Given the description of an element on the screen output the (x, y) to click on. 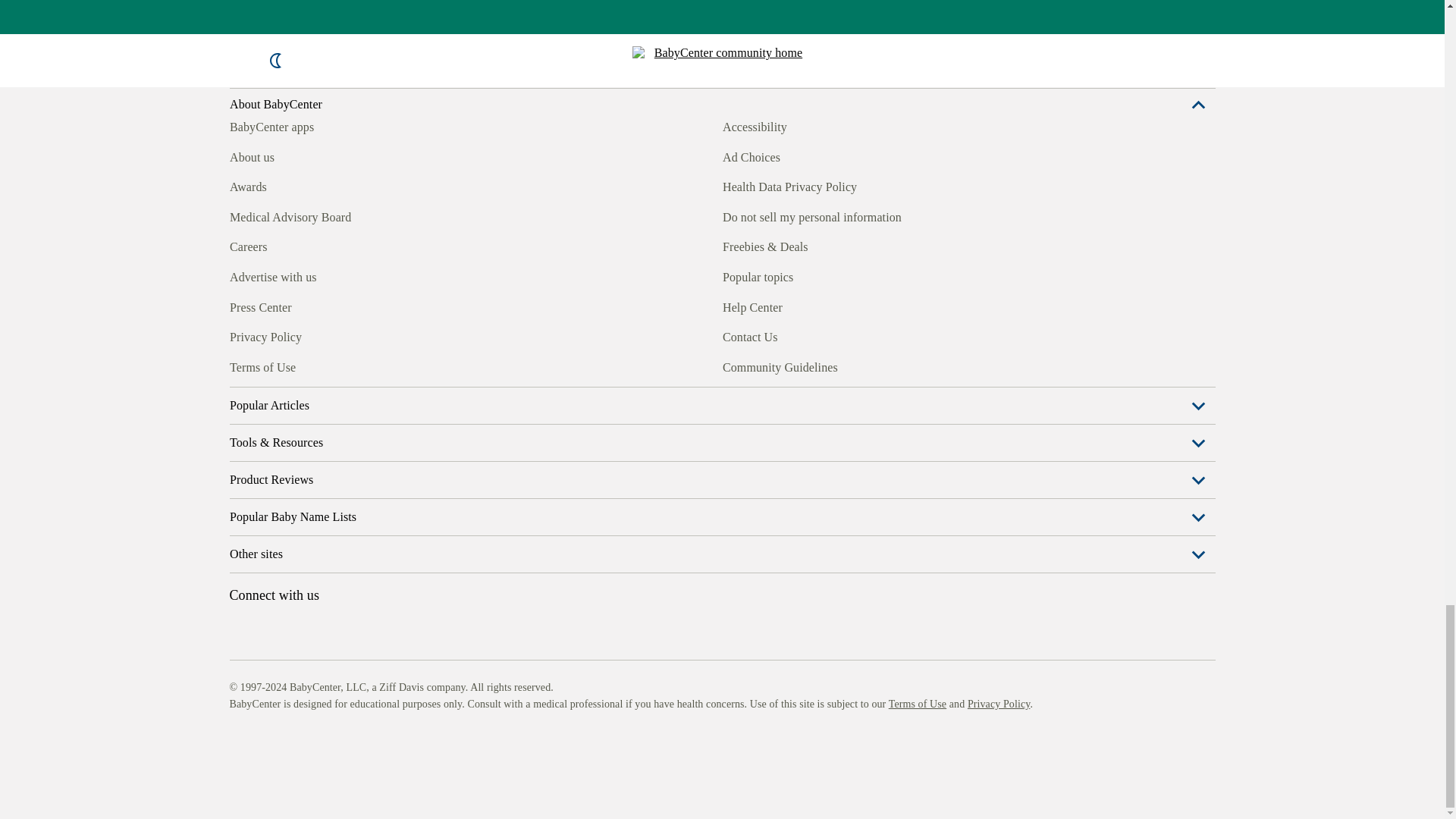
BabyCenter YouTube channel (344, 364)
BabyCenter Facebook page (239, 364)
BabyCenter Instagram feed (274, 364)
BabyCenter Pinterest board (309, 364)
BabyCenter Twitter feed (379, 364)
